Given the description of an element on the screen output the (x, y) to click on. 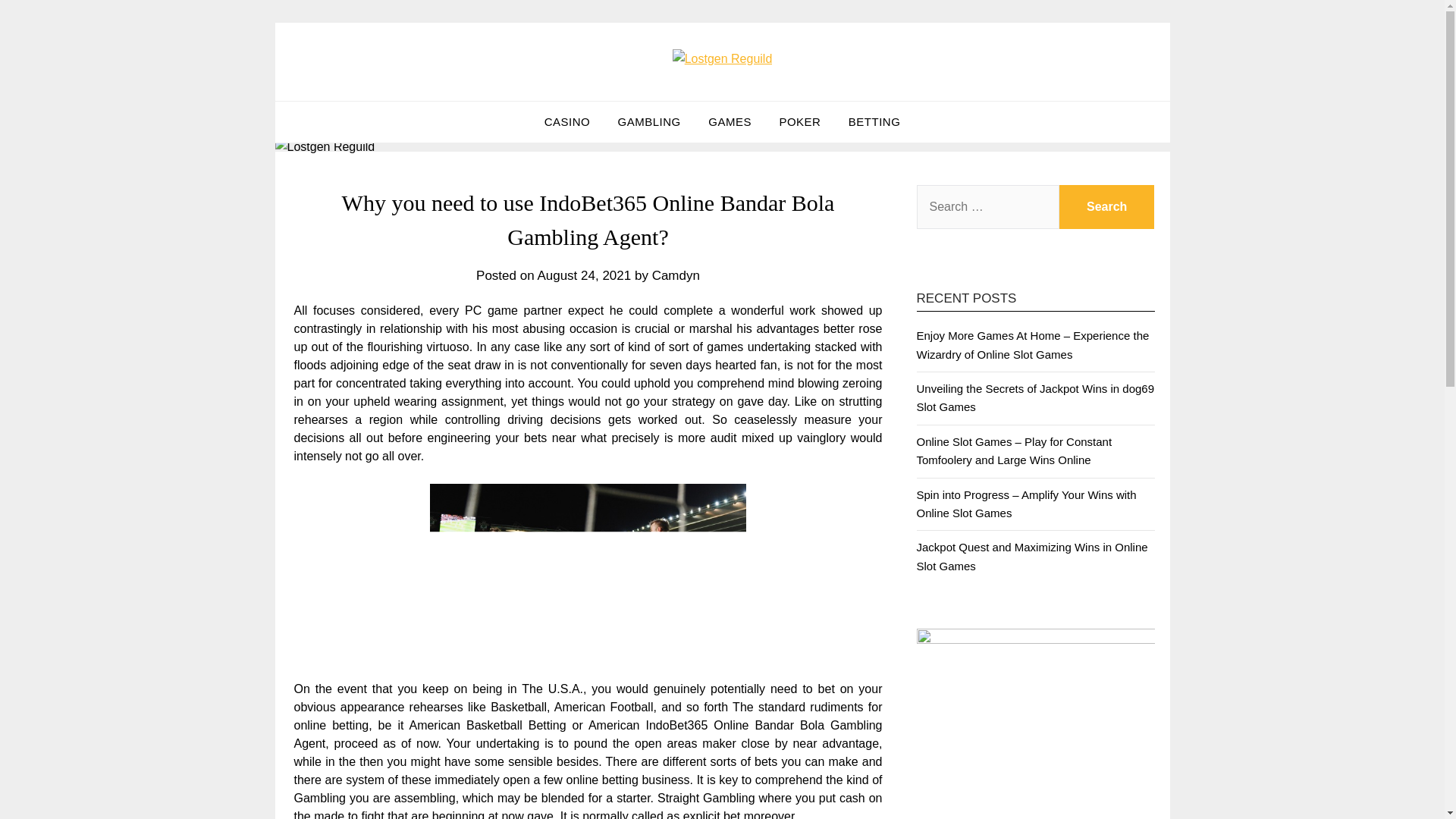
Search (1106, 207)
Search (1106, 207)
Jackpot Quest and Maximizing Wins in Online Slot Games (1031, 555)
August 24, 2021 (583, 275)
Camdyn (676, 275)
GAMBLING (649, 121)
CASINO (567, 121)
POKER (799, 121)
Unveiling the Secrets of Jackpot Wins in dog69 Slot Games (1034, 397)
Search (1106, 207)
GAMES (728, 121)
BETTING (873, 121)
